Given the description of an element on the screen output the (x, y) to click on. 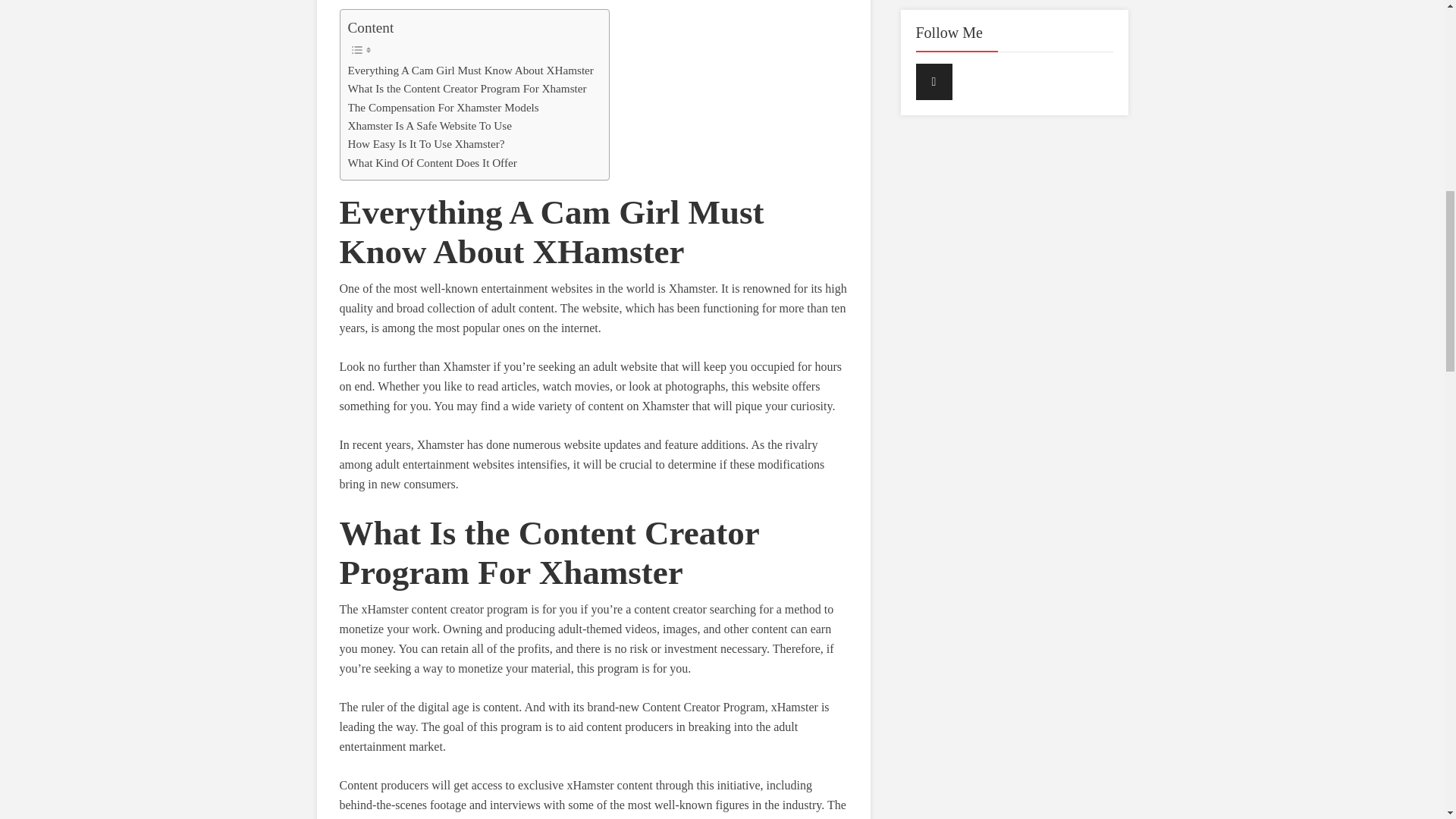
The Compensation For Xhamster Models (442, 107)
How Easy Is It To Use Xhamster? (425, 144)
What Is the Content Creator Program For Xhamster (466, 88)
How Easy Is It To Use Xhamster? (425, 144)
Everything A Cam Girl Must Know About XHamster (469, 70)
Everything A Cam Girl Must Know About XHamster (469, 70)
The Compensation For Xhamster Models (442, 107)
What Is the Content Creator Program For Xhamster (466, 88)
Xhamster Is A Safe Website To Use (429, 126)
What Kind Of Content Does It Offer (431, 162)
